Given the description of an element on the screen output the (x, y) to click on. 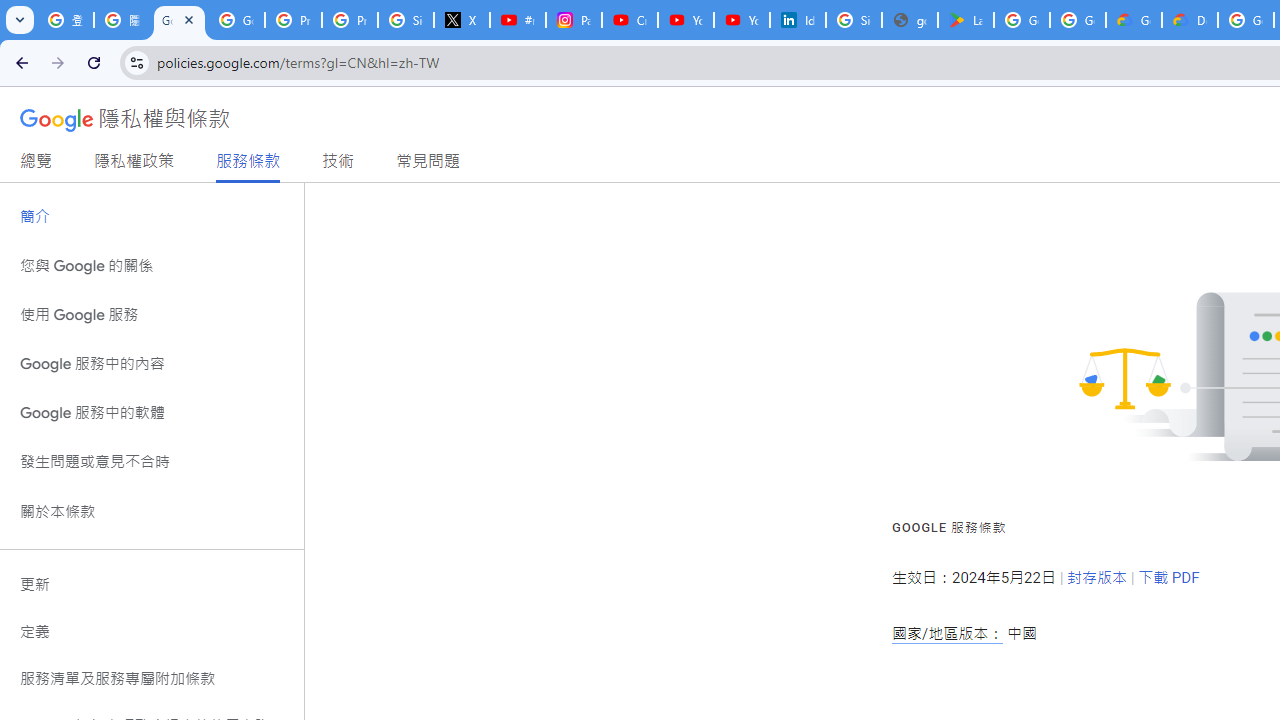
#nbabasketballhighlights - YouTube (518, 20)
Google Workspace - Specific Terms (1077, 20)
Last Shelter: Survival - Apps on Google Play (966, 20)
YouTube Culture & Trends - YouTube Top 10, 2021 (742, 20)
